Given the description of an element on the screen output the (x, y) to click on. 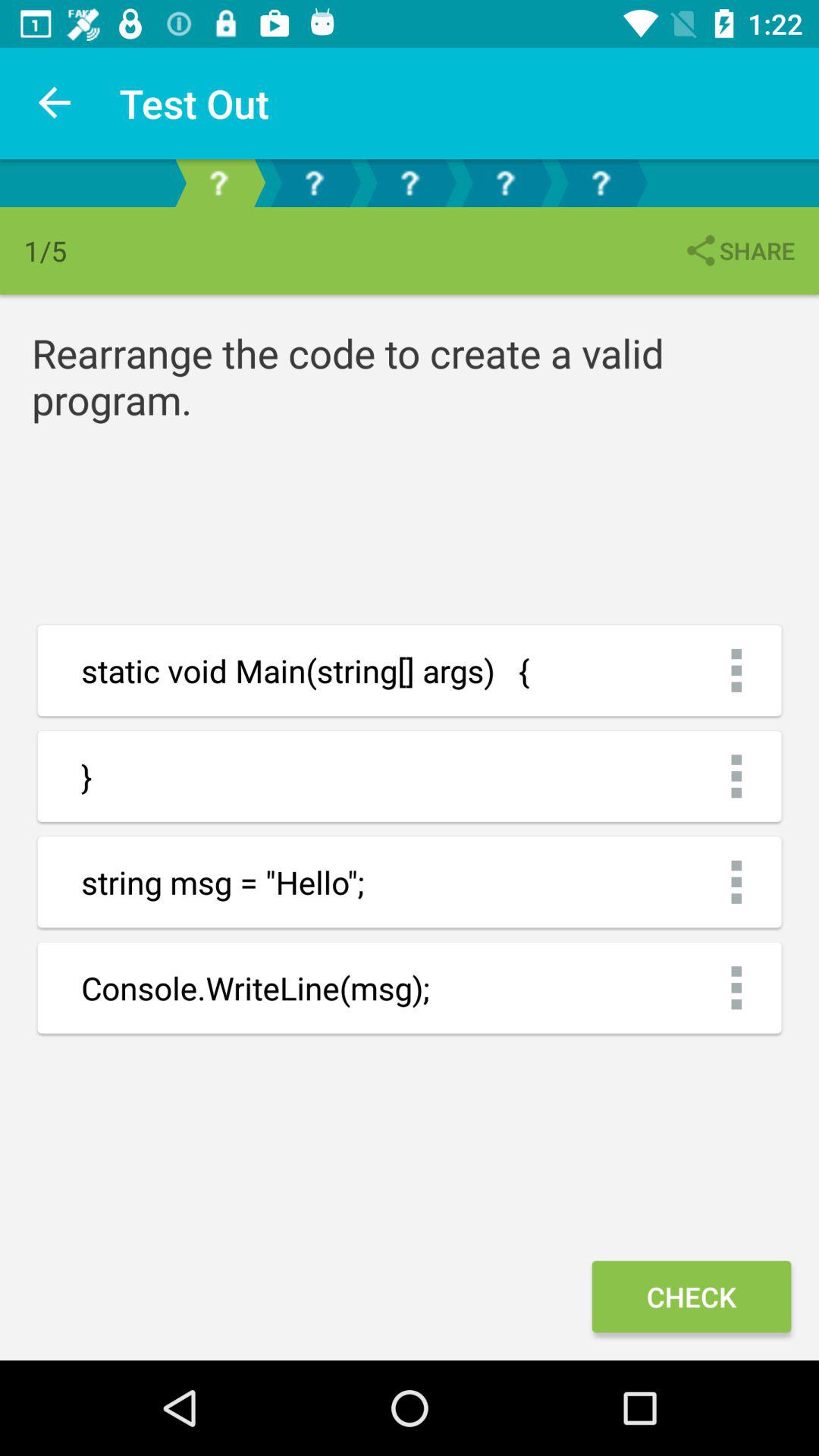
select the tab (600, 183)
